Given the description of an element on the screen output the (x, y) to click on. 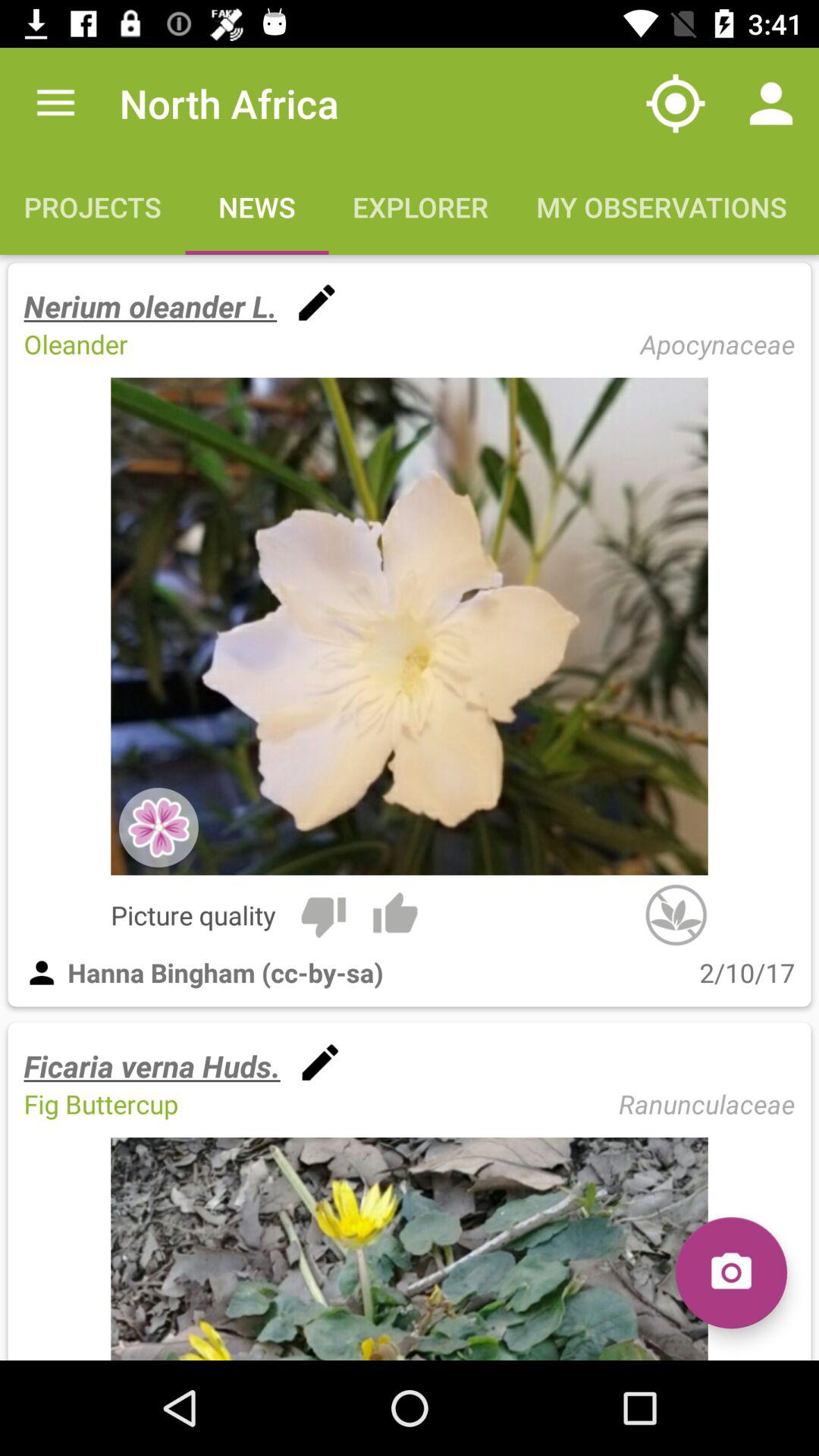
tap item above the my observations icon (771, 103)
